Given the description of an element on the screen output the (x, y) to click on. 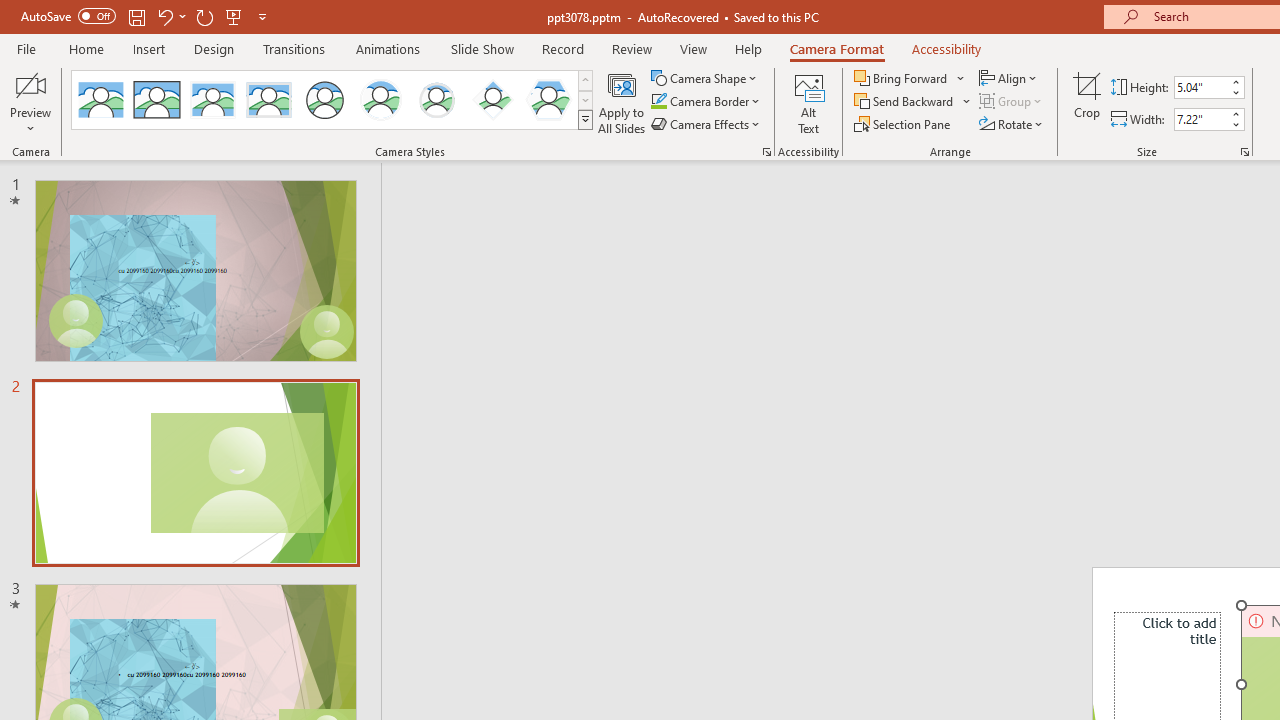
No Style (100, 100)
